Given the description of an element on the screen output the (x, y) to click on. 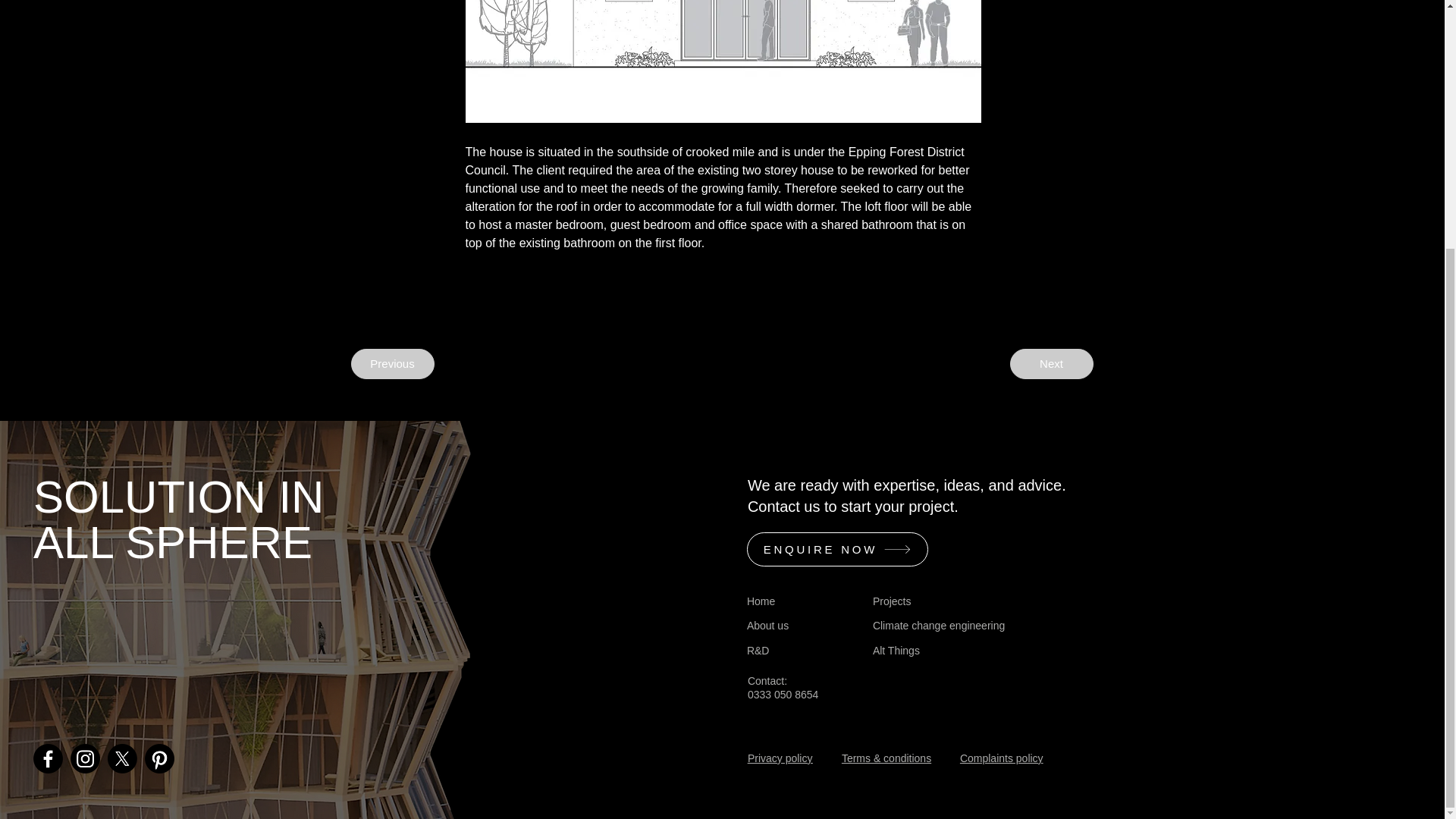
Alt Things (896, 650)
Projects (891, 601)
Next (1051, 363)
Climate change engineering (938, 625)
About us (767, 625)
Previous (391, 363)
Home (783, 687)
ENQUIRE NOW (760, 601)
Privacy policy (837, 549)
Complaints policy (780, 758)
